Given the description of an element on the screen output the (x, y) to click on. 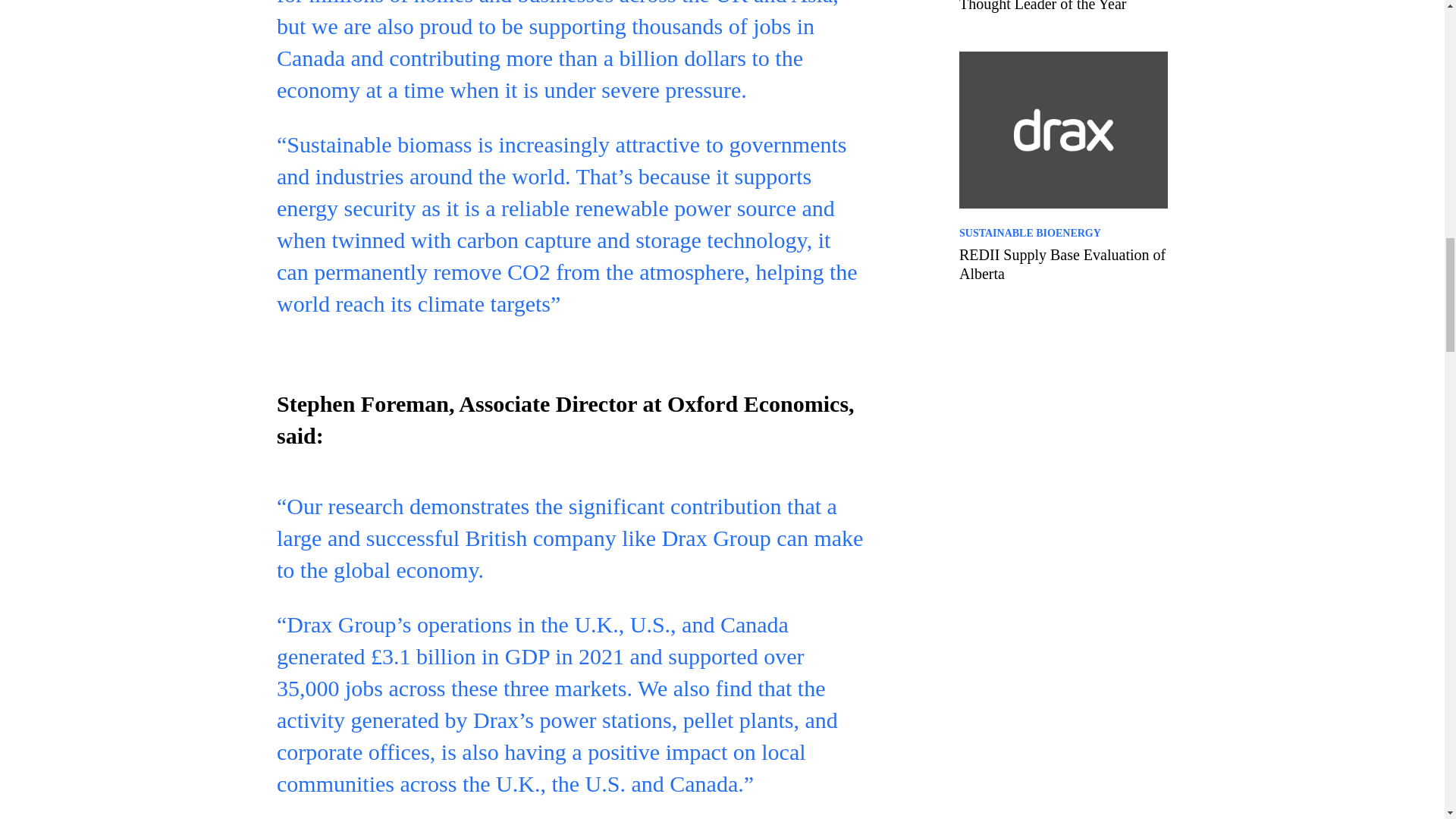
REDII Supply Base Evaluation of Alberta (1063, 264)
